Given the description of an element on the screen output the (x, y) to click on. 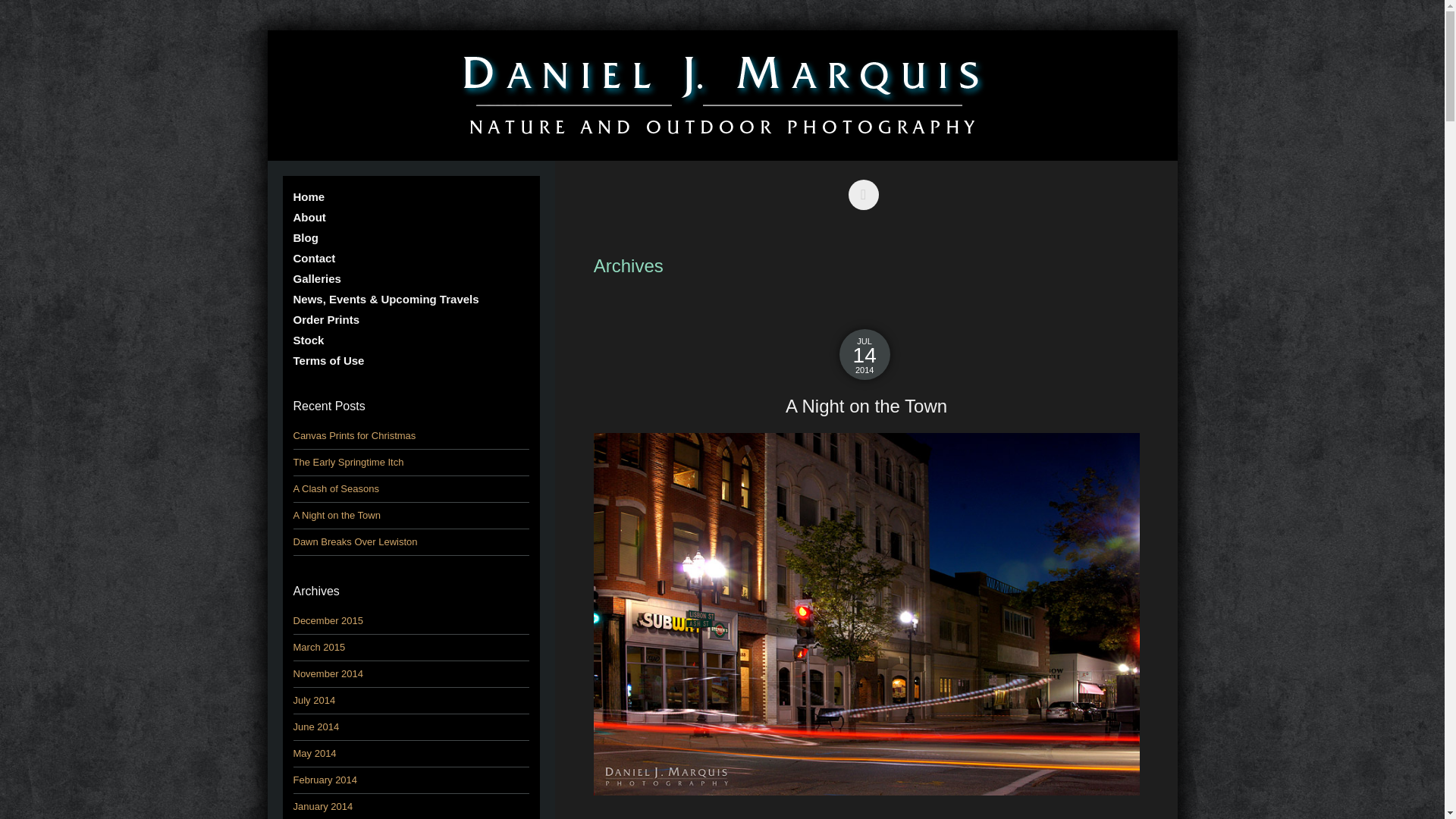
A Night on the Town (867, 405)
Facebook (866, 183)
